Given the description of an element on the screen output the (x, y) to click on. 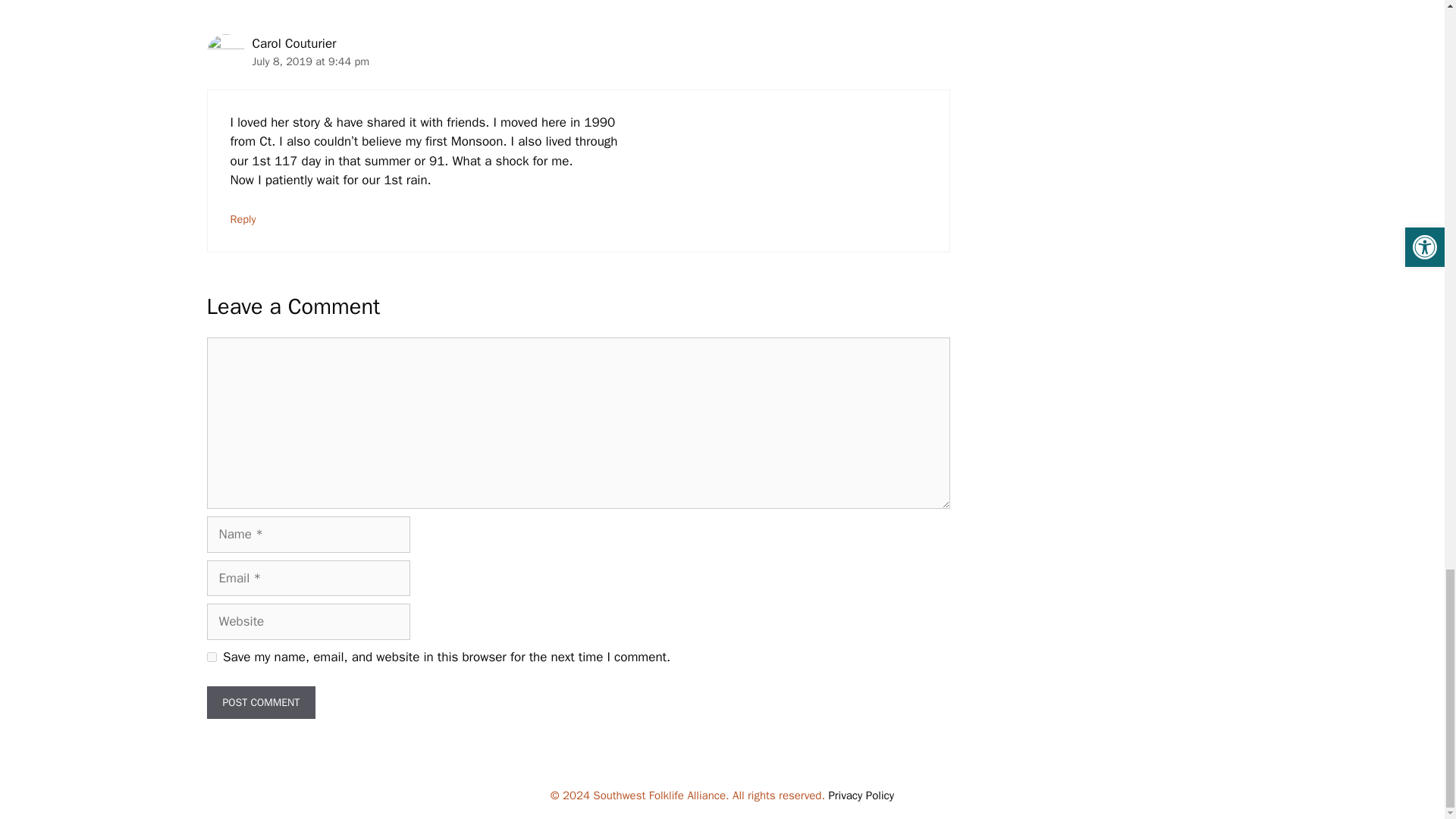
Reply (243, 219)
Post Comment (260, 702)
Post Comment (260, 702)
yes (210, 656)
July 8, 2019 at 9:44 pm (310, 60)
